Given the description of an element on the screen output the (x, y) to click on. 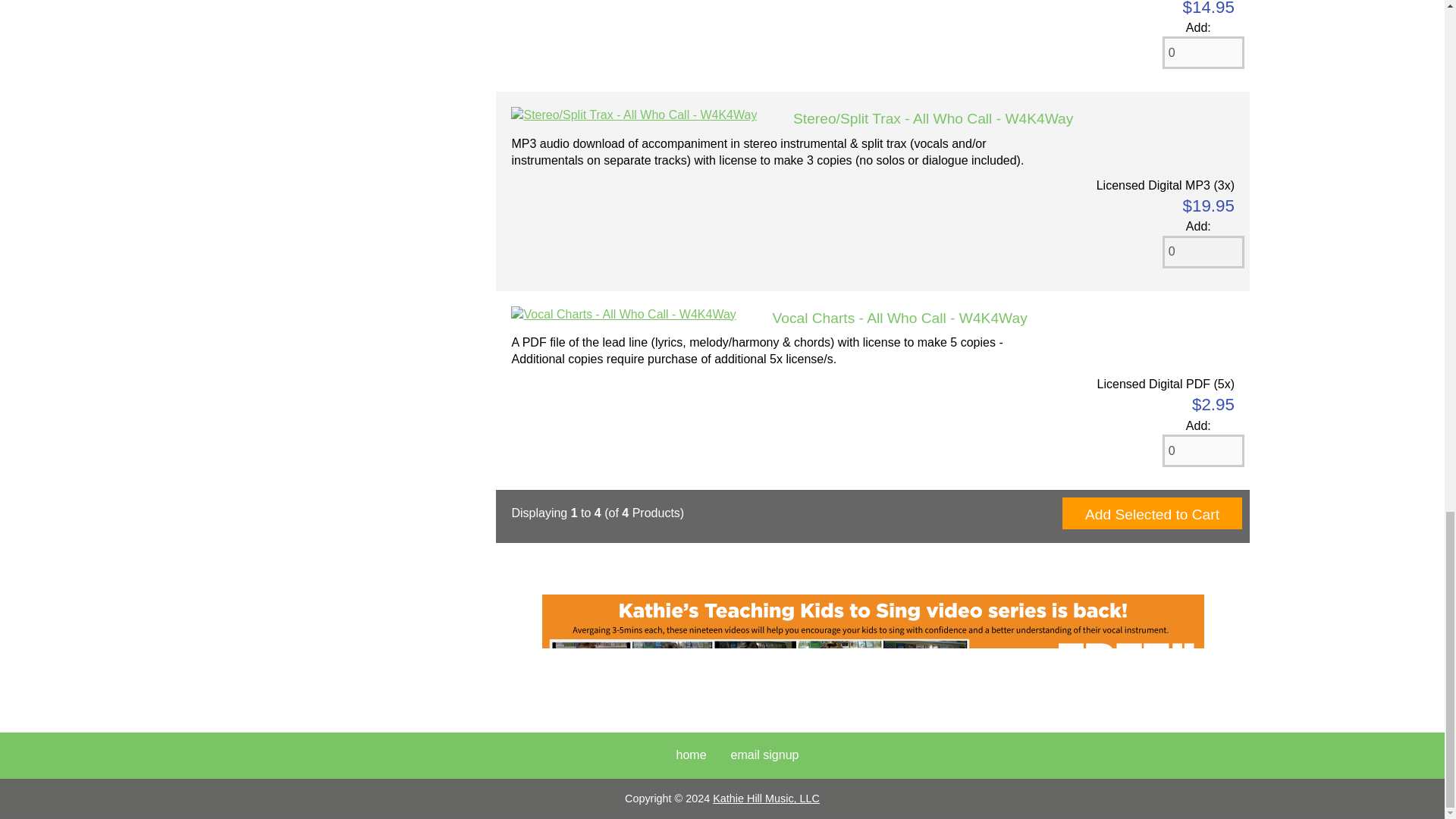
0 (1202, 52)
FREE Teaching Kids to Sing video series (872, 644)
0 (1202, 251)
0 (1202, 450)
Add Selected to Cart (1151, 513)
Vocal Charts - All Who Call - W4K4Way (623, 314)
